Given the description of an element on the screen output the (x, y) to click on. 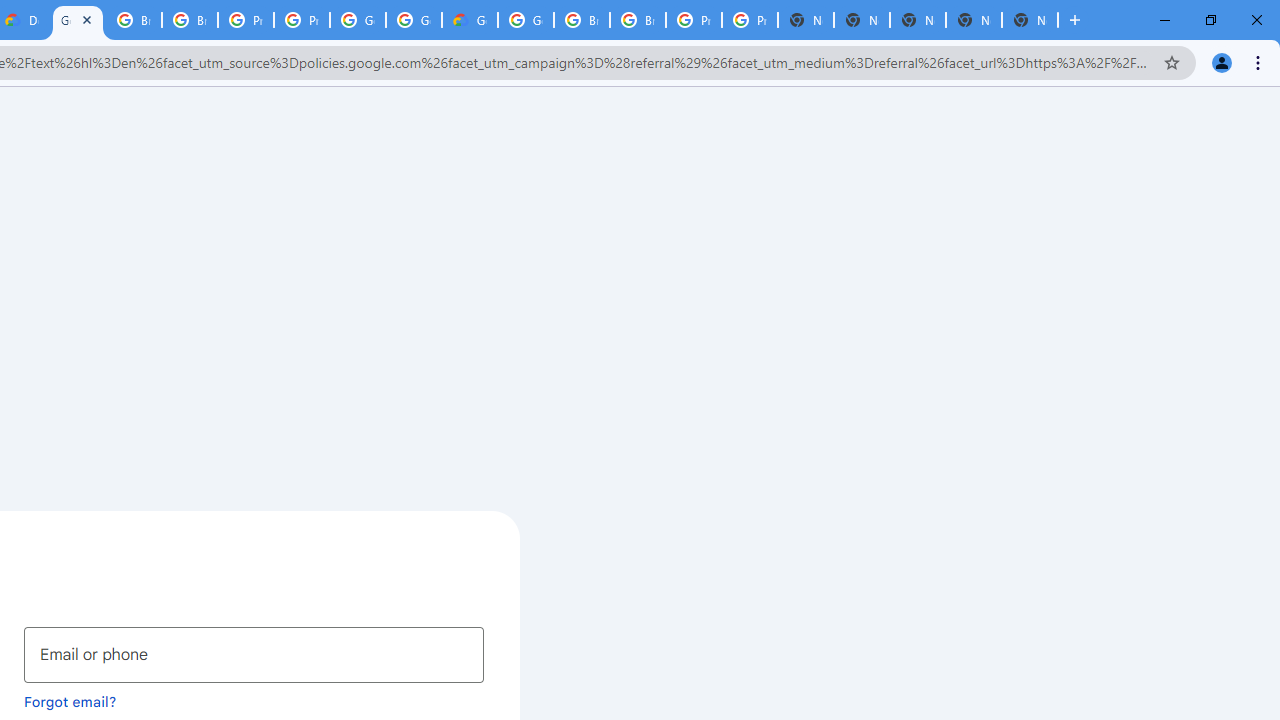
Browse Chrome as a guest - Computer - Google Chrome Help (582, 20)
Email or phone (253, 654)
Google Cloud Platform (525, 20)
